Given the description of an element on the screen output the (x, y) to click on. 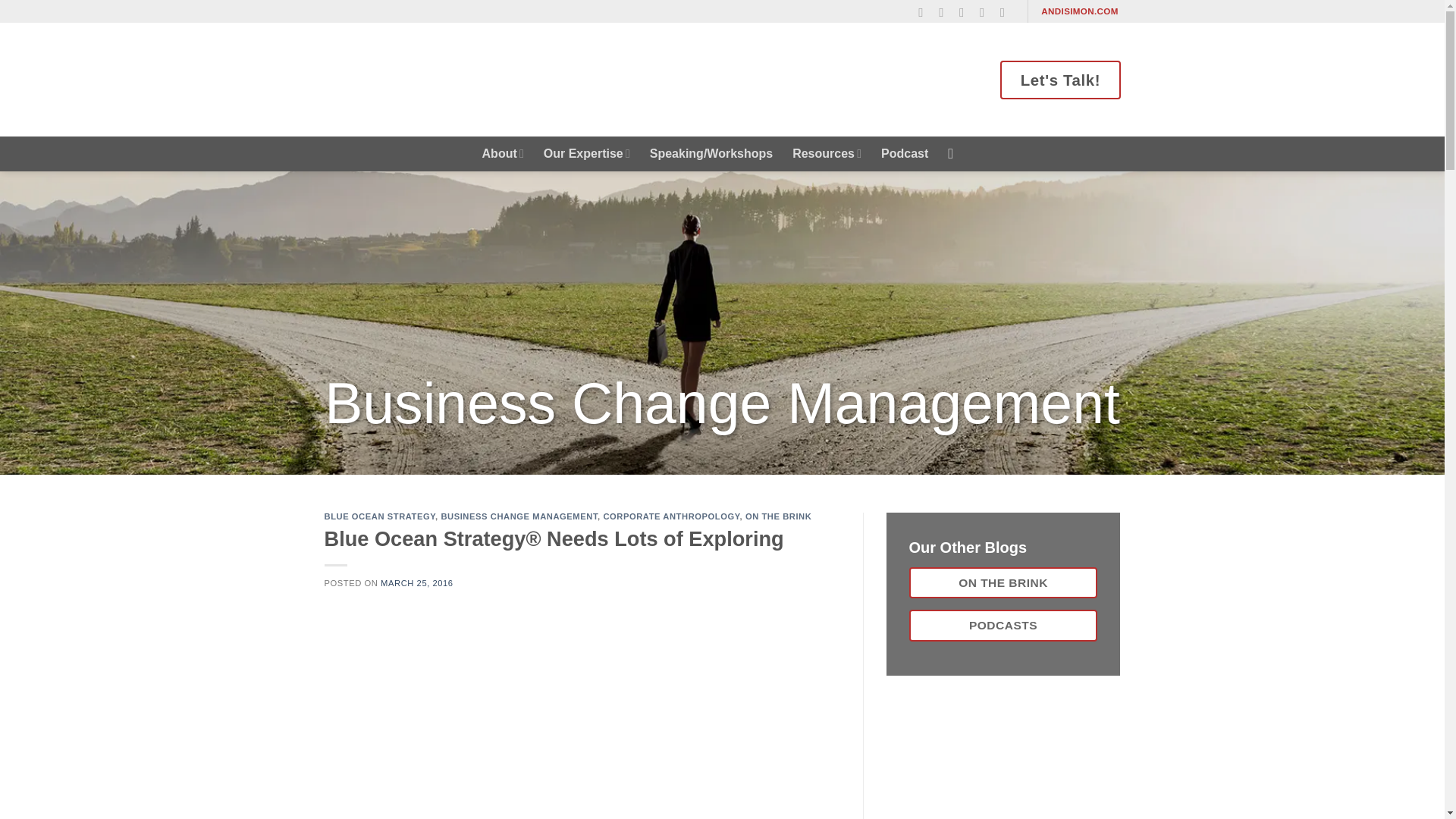
ANDISIMON.COM (1080, 11)
Follow on Instagram (945, 11)
Our Expertise (586, 153)
Let's Talk! (1059, 79)
Resources (826, 153)
Follow on Facebook (924, 11)
About (502, 153)
Podcast (904, 153)
Simon Associates - Management Consultants (456, 79)
Follow on YouTube (1006, 11)
Follow on Twitter (965, 11)
Follow on LinkedIn (985, 11)
